Given the description of an element on the screen output the (x, y) to click on. 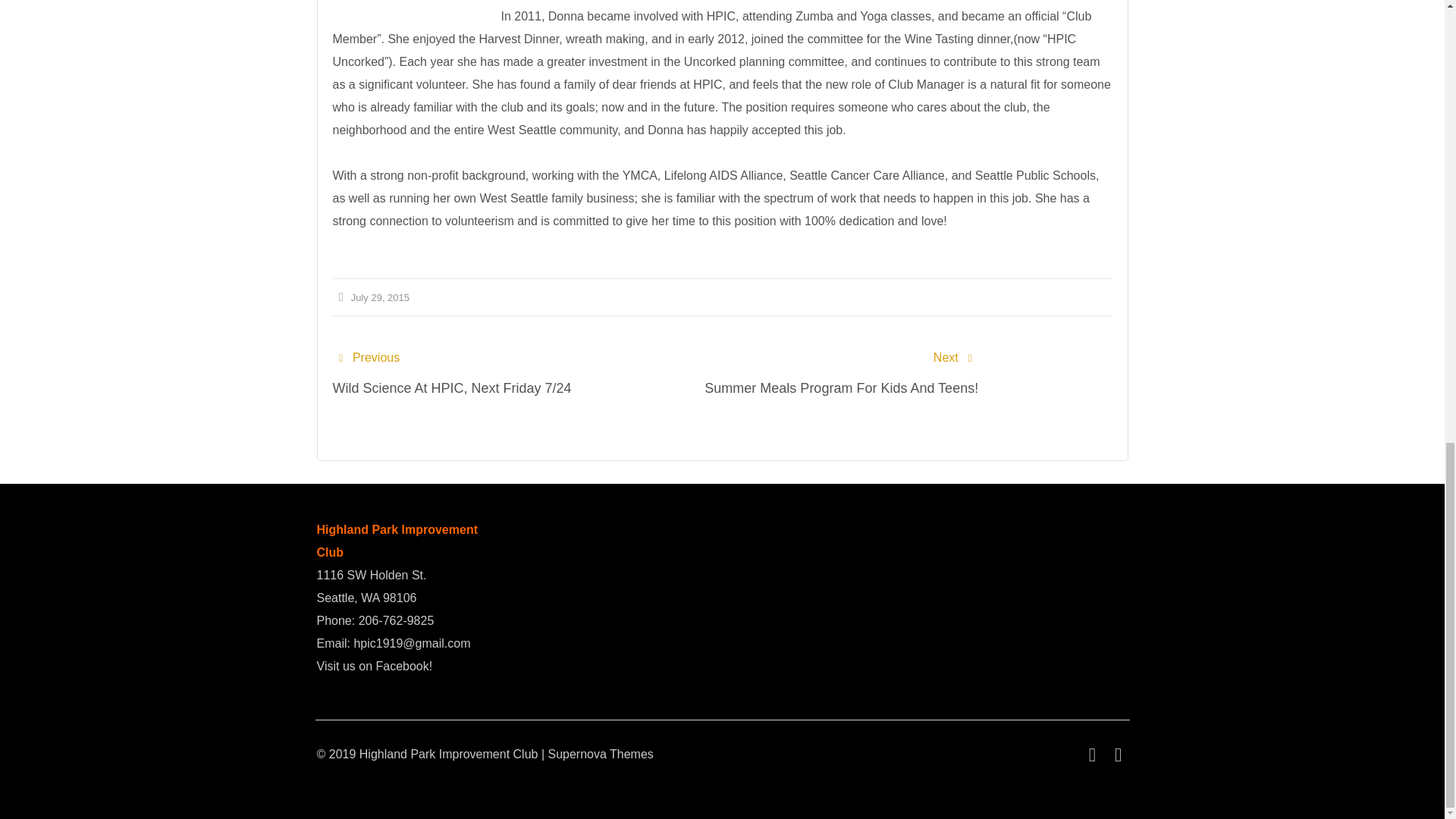
Call with Google Voice (395, 620)
db1 (406, 9)
